Given the description of an element on the screen output the (x, y) to click on. 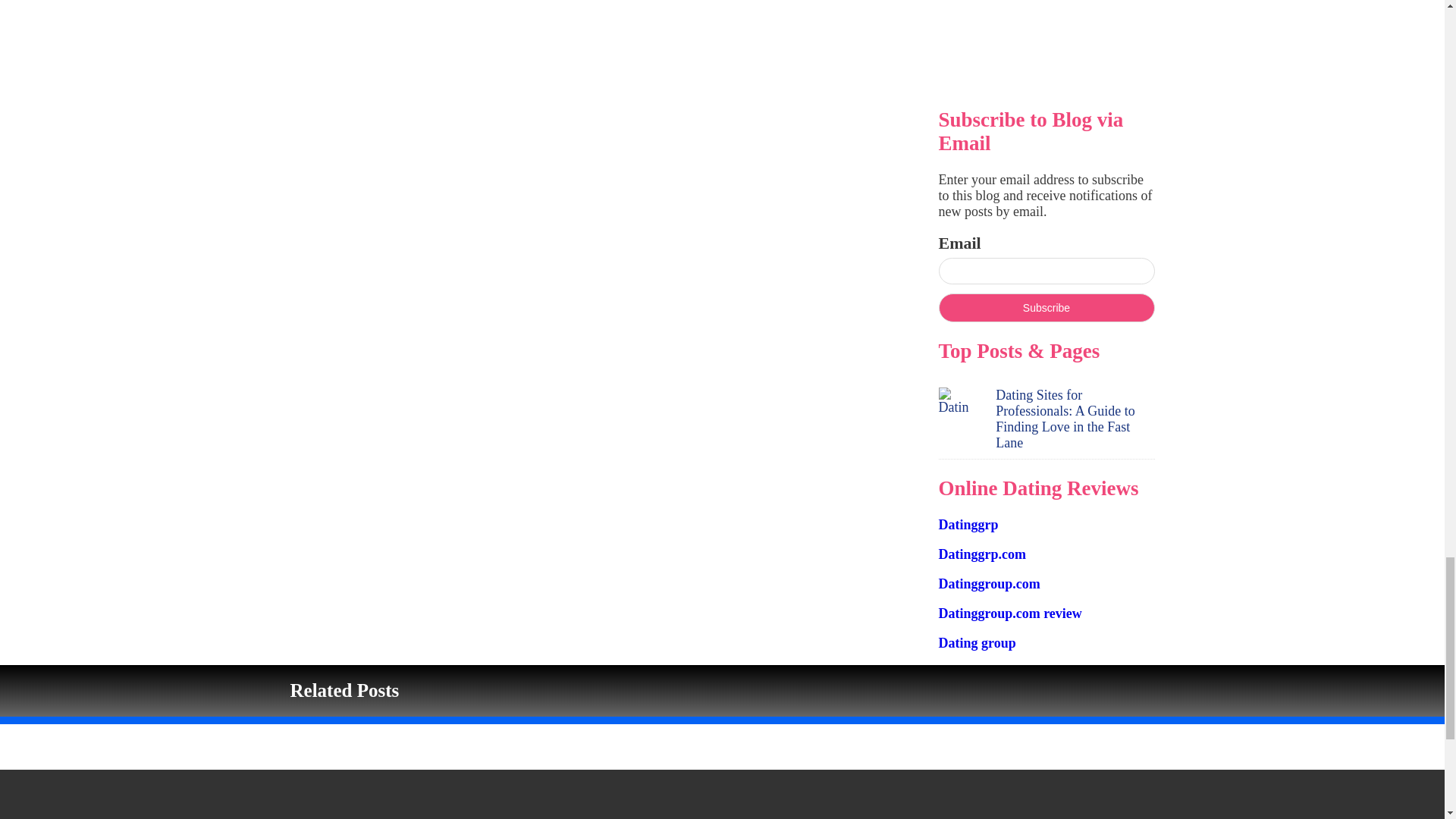
Subscribe (1046, 307)
